Given the description of an element on the screen output the (x, y) to click on. 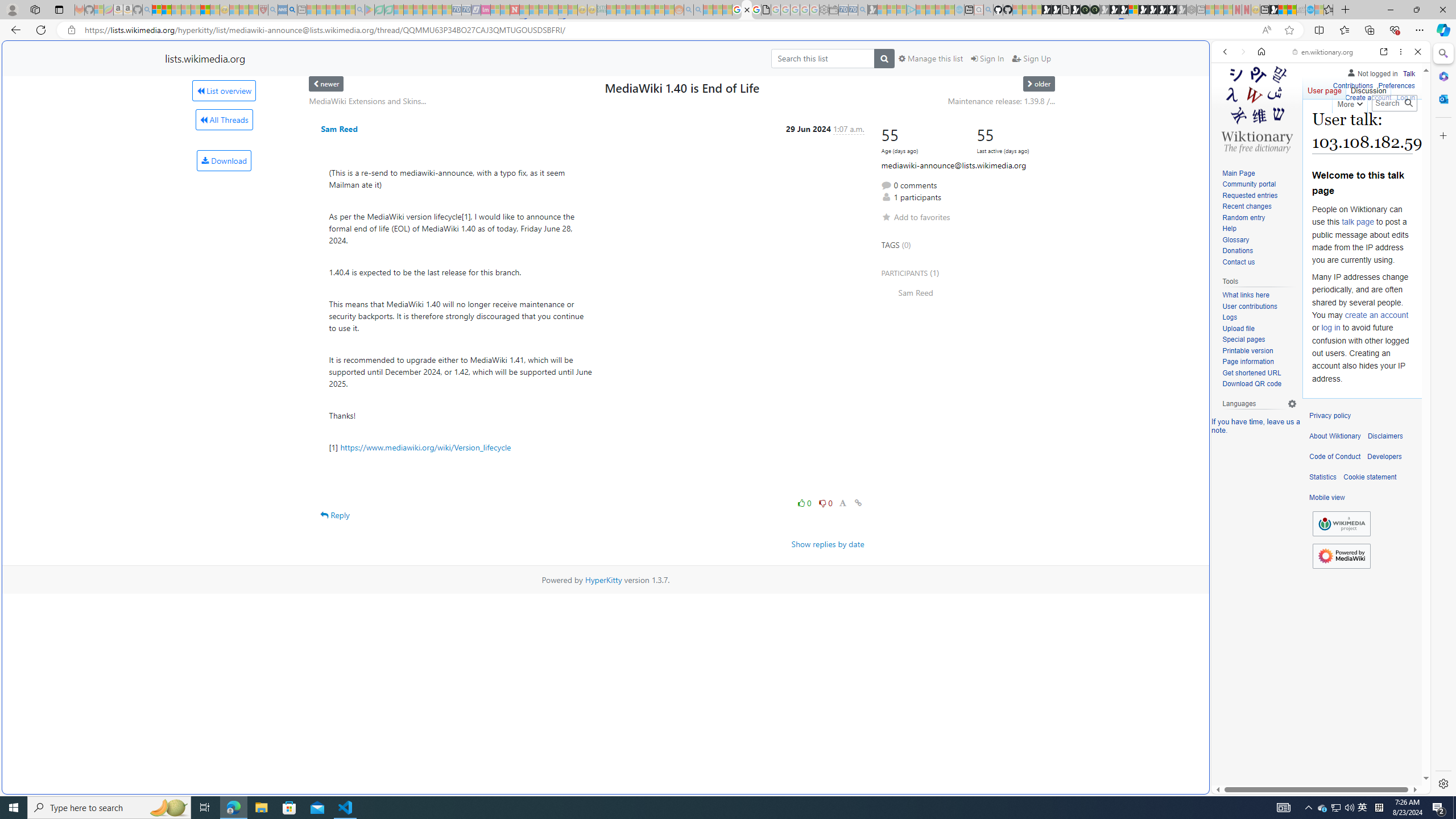
Close Customize pane (1442, 135)
Contact us (1238, 261)
World - MSN (727, 389)
Future Focus Report 2024 (1094, 9)
Preferences (1396, 84)
Pets - MSN - Sleeping (340, 9)
Search or enter web address (922, 108)
Wikimedia Foundation (1341, 523)
Search Filter, WEB (1230, 129)
